Given the description of an element on the screen output the (x, y) to click on. 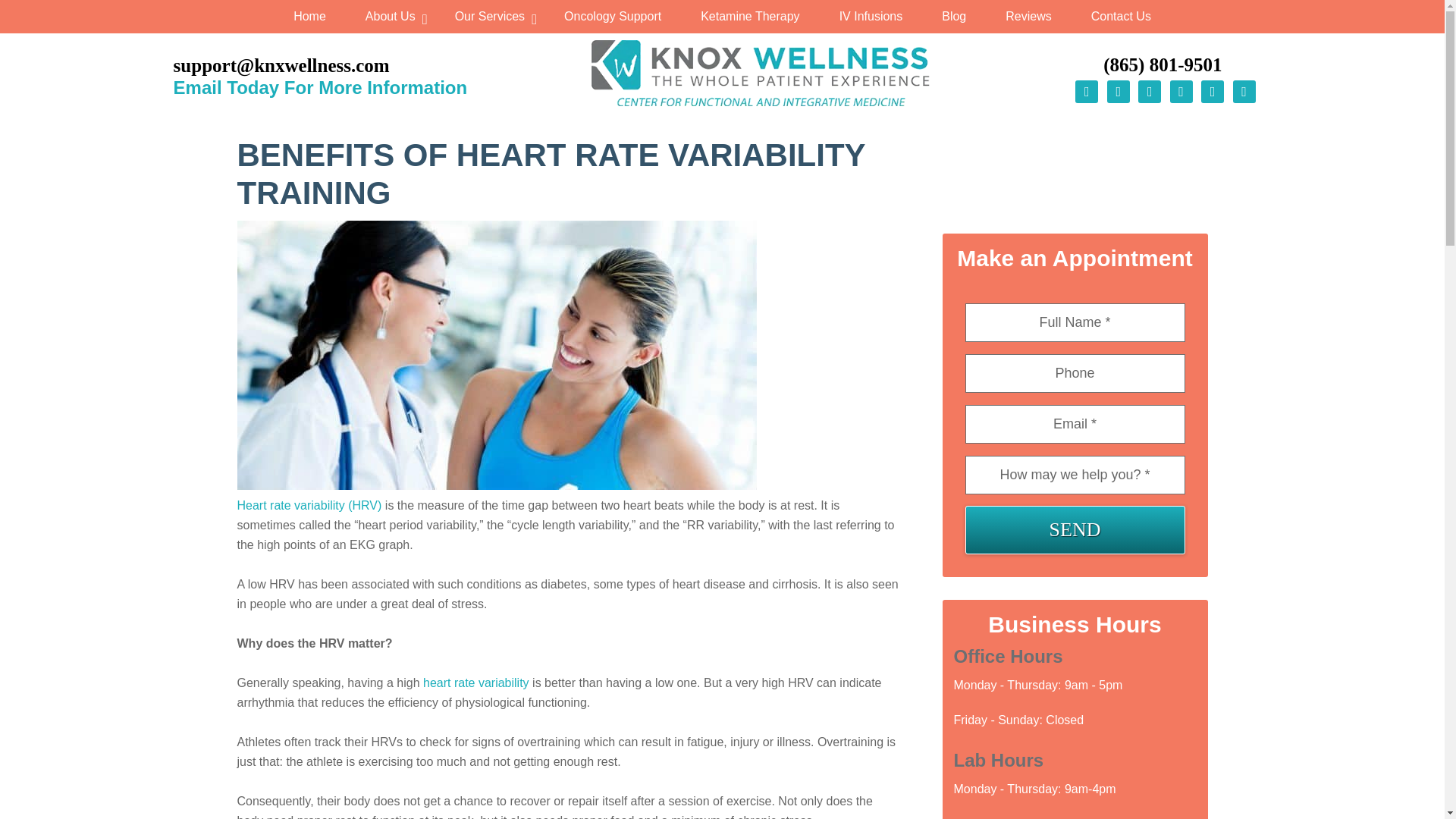
Ketamine Therapy (749, 16)
Home (309, 16)
About Us (390, 16)
Benefits of Heart Rate Variability Training (495, 485)
Blog (953, 16)
Send (1074, 530)
IV Infusions (871, 16)
Oncology Support (612, 16)
Our Services (489, 16)
